Given the description of an element on the screen output the (x, y) to click on. 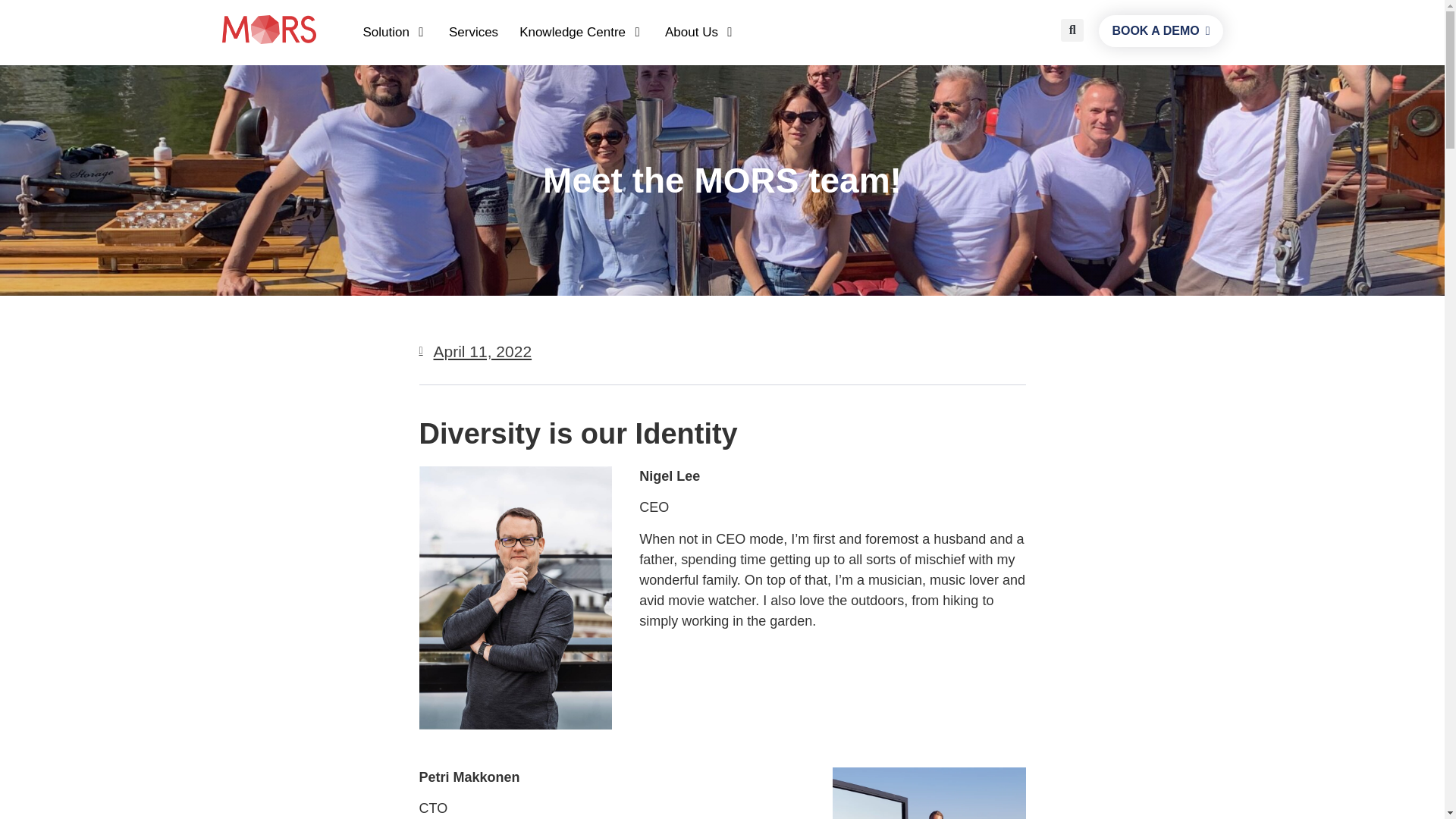
BOOK A DEMO (1161, 30)
About Us (691, 32)
Knowledge Centre (572, 32)
April 11, 2022 (475, 351)
Services (472, 32)
Solution (385, 32)
